Given the description of an element on the screen output the (x, y) to click on. 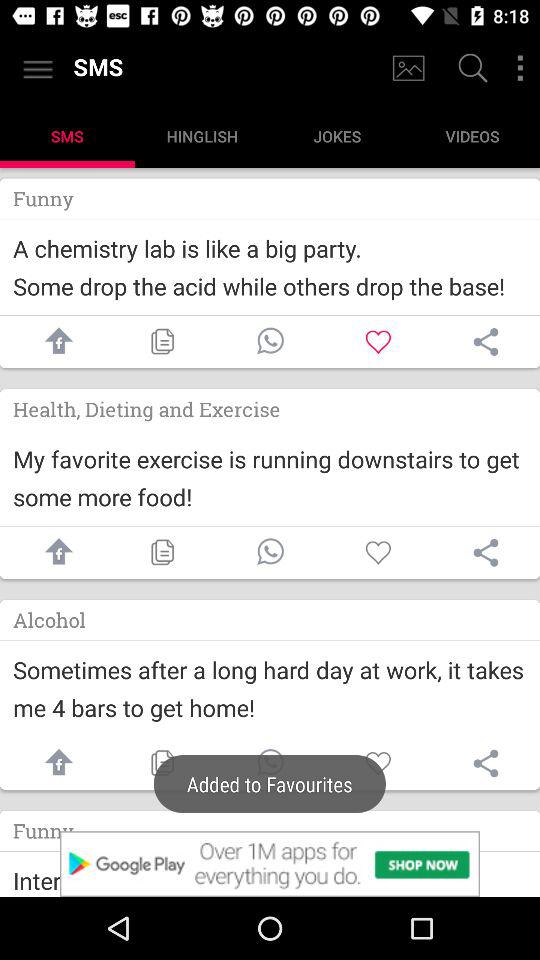
view advertisement in new app (270, 864)
